Given the description of an element on the screen output the (x, y) to click on. 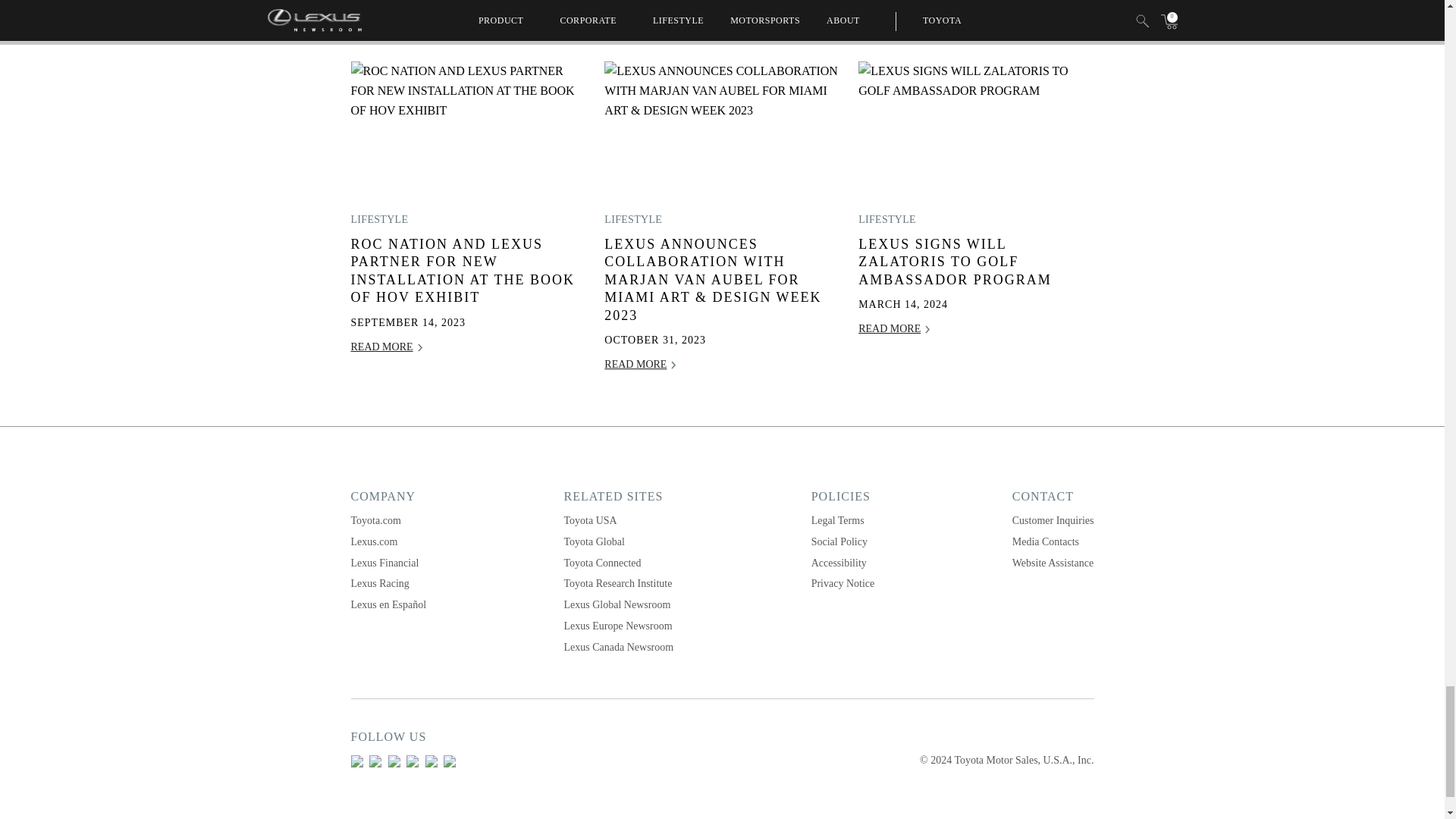
Lifestyle (378, 219)
Lifestyle (633, 219)
Lifestyle (887, 219)
